Given the description of an element on the screen output the (x, y) to click on. 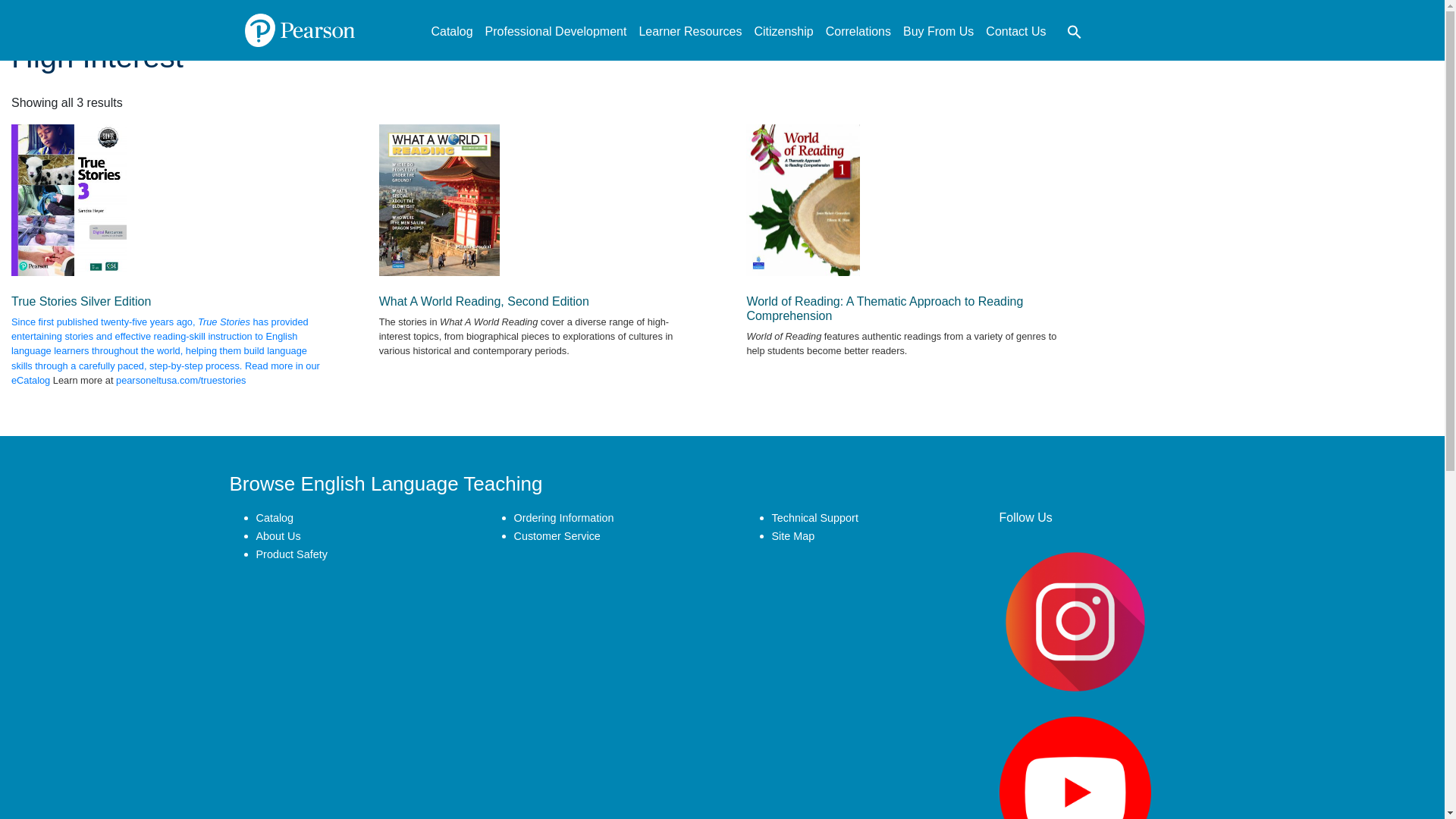
Go to Pearson ELT USA. (287, 9)
Go to Products. (356, 9)
Go to the Skills Category archives. (398, 9)
Catalog (452, 31)
Go to the Reading Category archives. (438, 9)
